Given the description of an element on the screen output the (x, y) to click on. 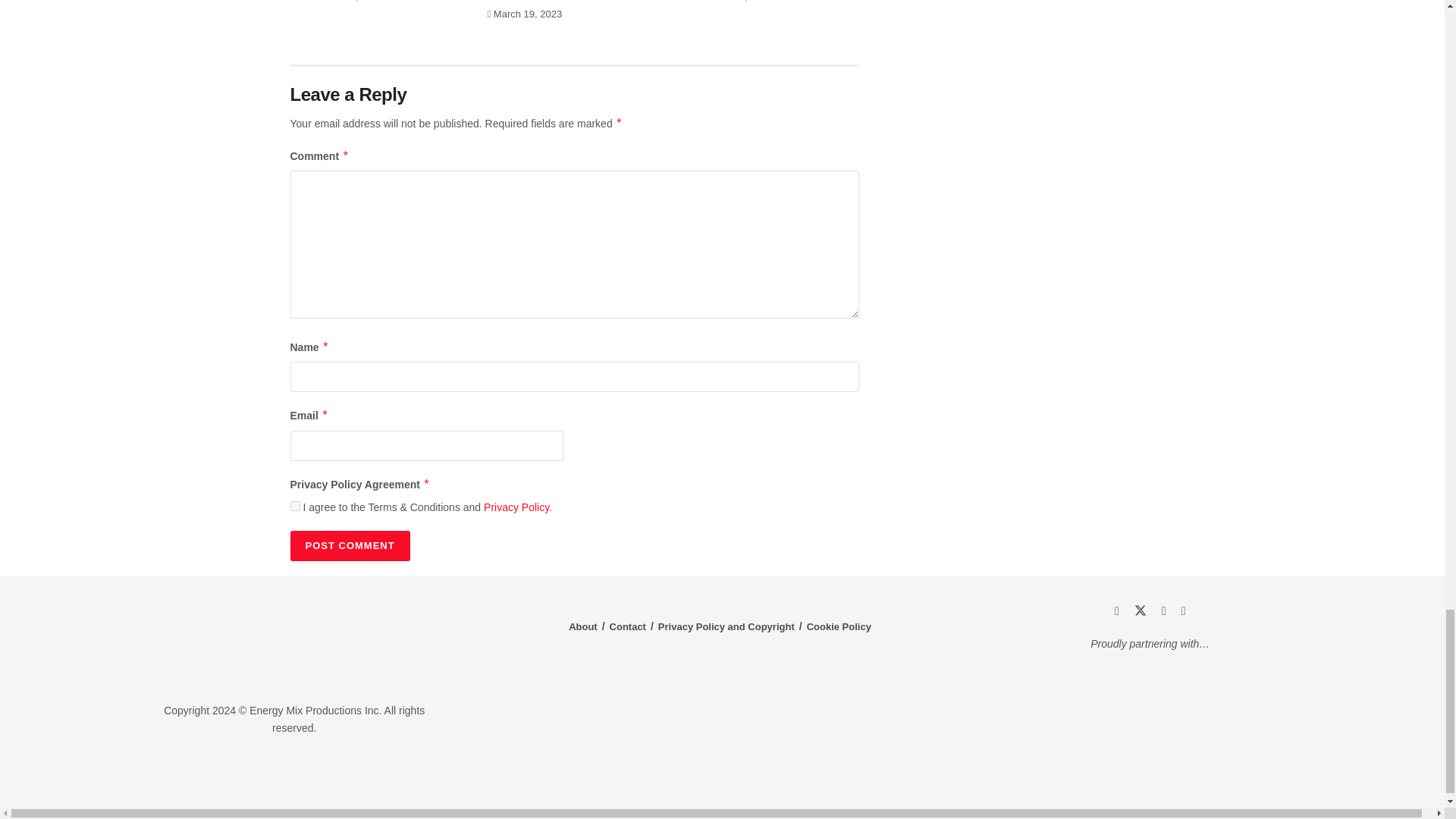
tem-logo-2024 (294, 640)
Post Comment (349, 545)
on (294, 506)
Climate-and-Capital (1221, 772)
